Given the description of an element on the screen output the (x, y) to click on. 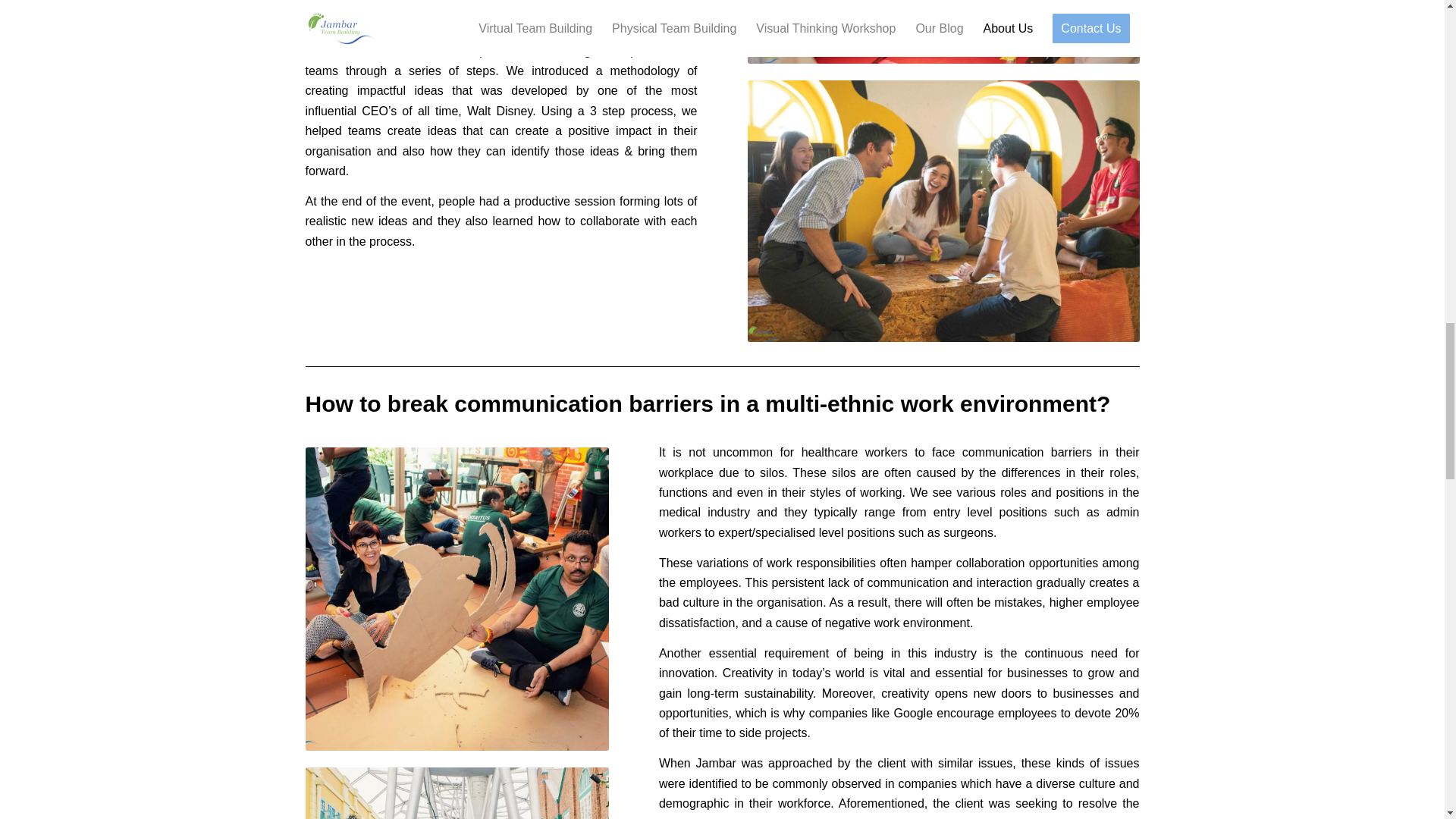
Dpl8xibUUAU3Bb- (456, 599)
